Given the description of an element on the screen output the (x, y) to click on. 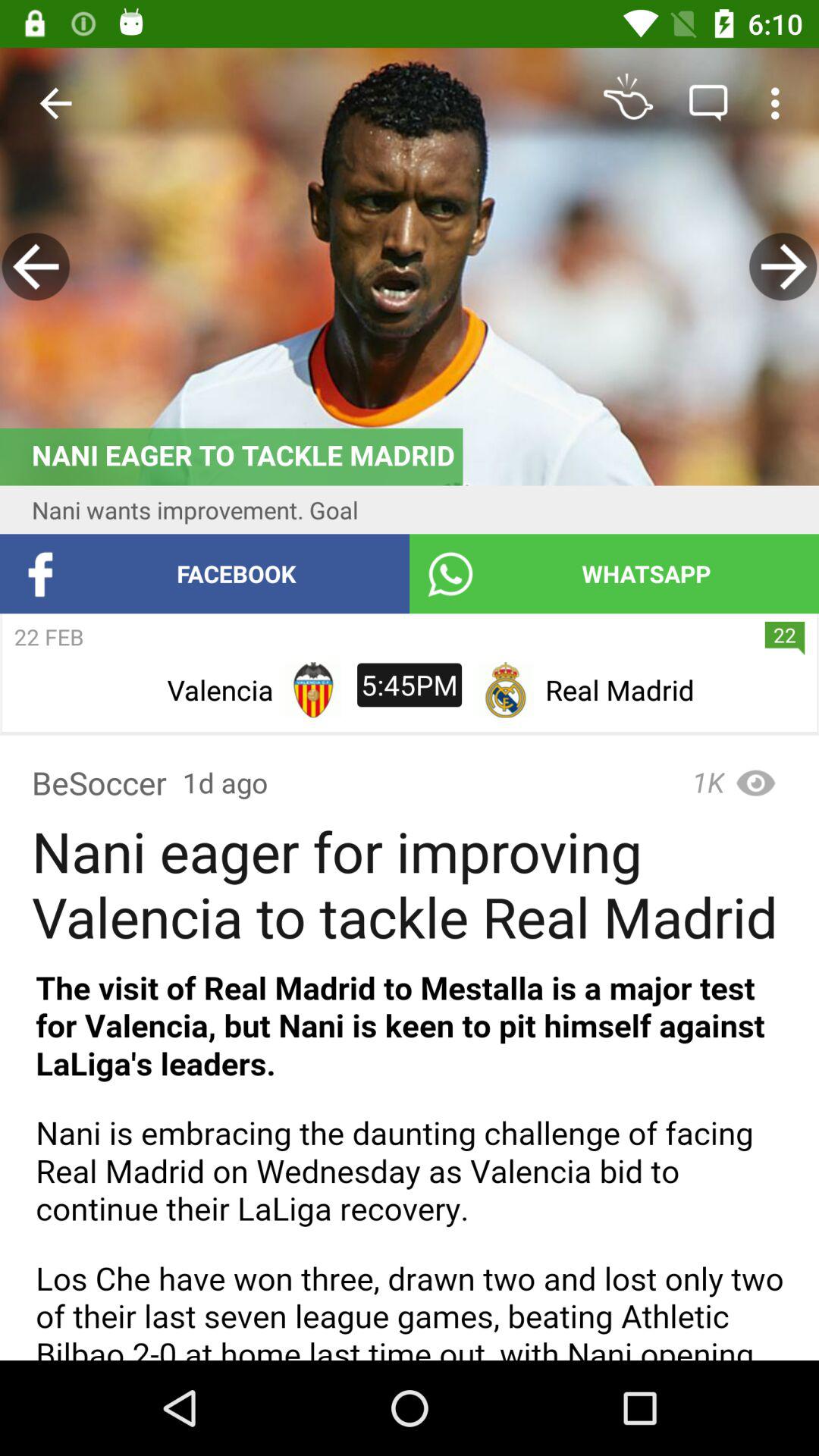
back bate (783, 266)
